Given the description of an element on the screen output the (x, y) to click on. 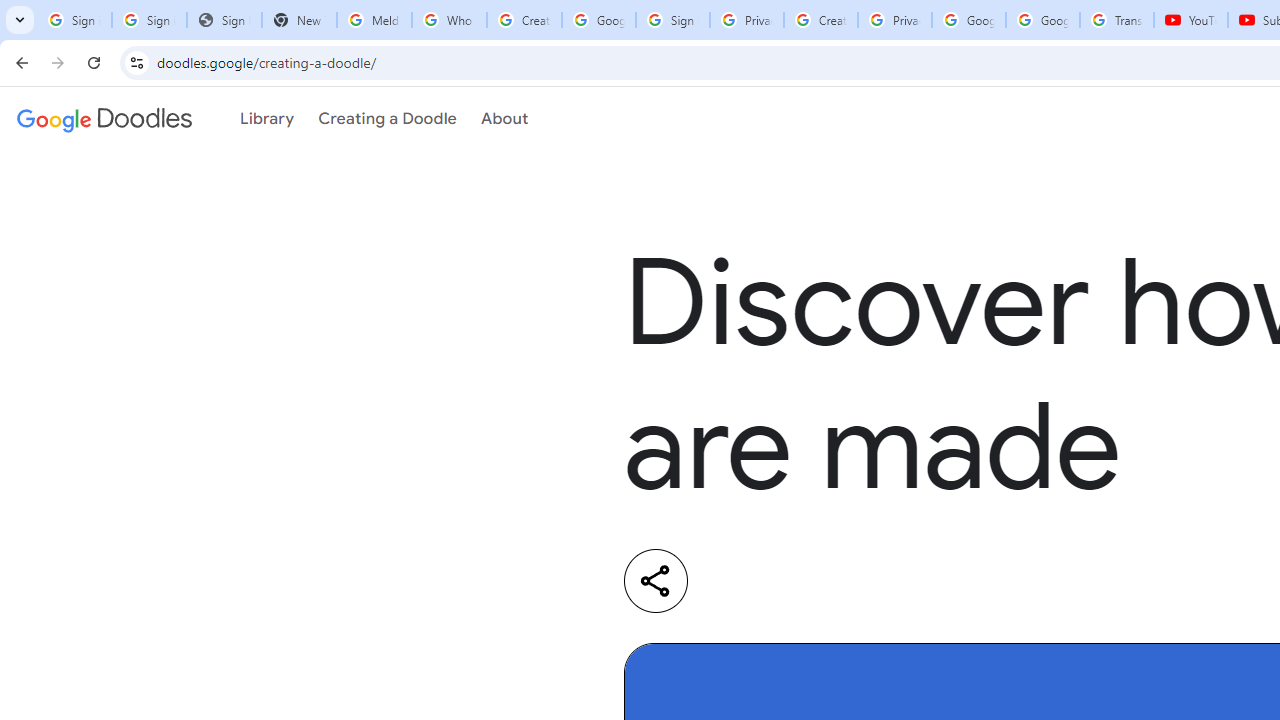
About (504, 119)
Share on Linkedin (736, 581)
